Given the description of an element on the screen output the (x, y) to click on. 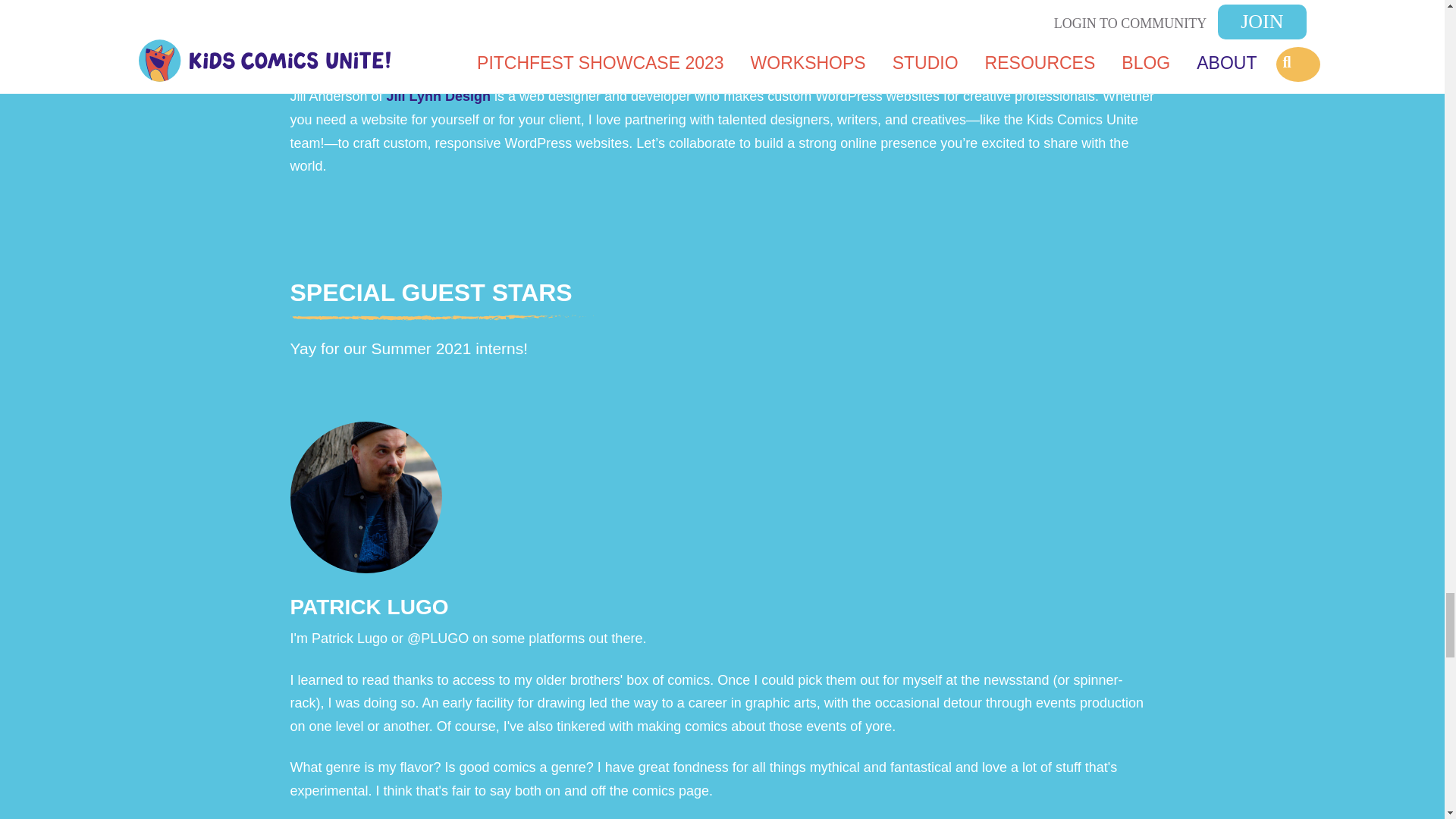
Jill Lynn Design (438, 96)
